Given the description of an element on the screen output the (x, y) to click on. 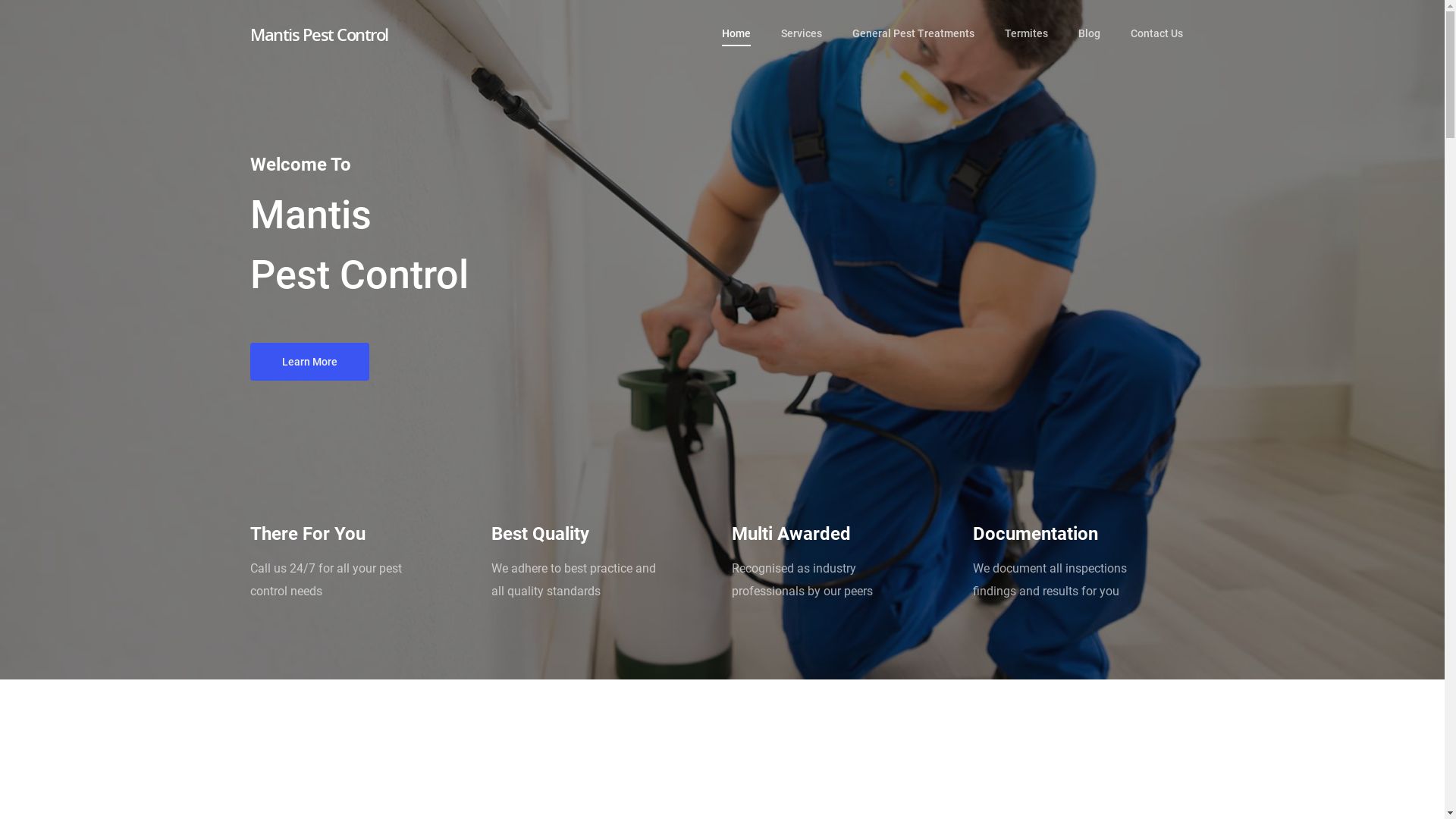
Termites Element type: text (1026, 45)
Mantis Pest Control Element type: text (319, 33)
Privacy Policy Element type: text (338, 761)
Pest Control Element type: text (279, 668)
General Pest Treatments Element type: text (913, 45)
Terms of Use Element type: text (276, 761)
Blog Element type: text (1089, 45)
Contact Us Element type: text (1156, 45)
Services Element type: text (801, 45)
Home Element type: text (735, 45)
Learn More Element type: text (309, 361)
Disclaimer Element type: text (395, 761)
